Given the description of an element on the screen output the (x, y) to click on. 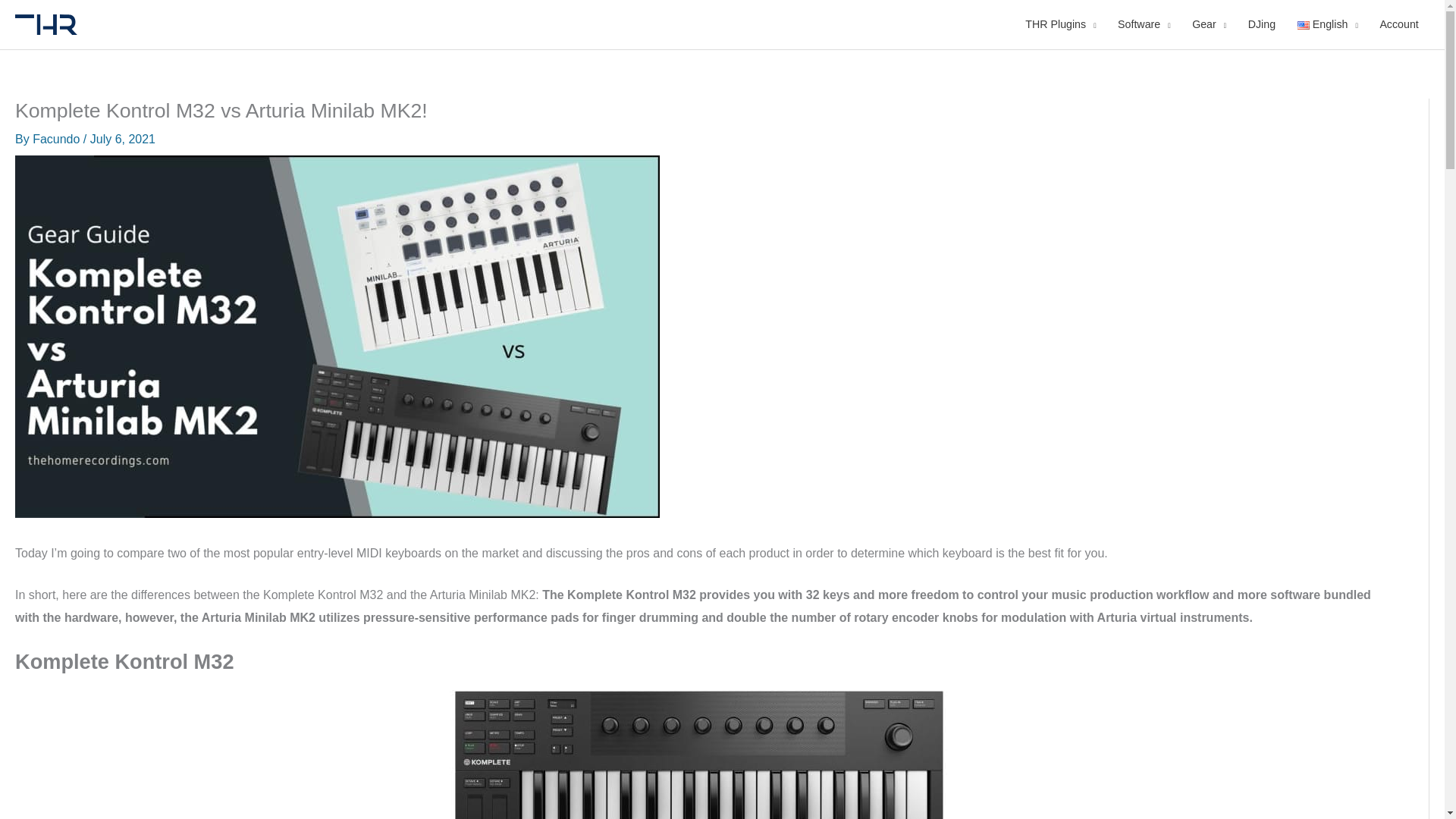
View all posts by Facundo (57, 138)
Gear (1208, 24)
THR Plugins (1060, 24)
Software (1143, 24)
